Given the description of an element on the screen output the (x, y) to click on. 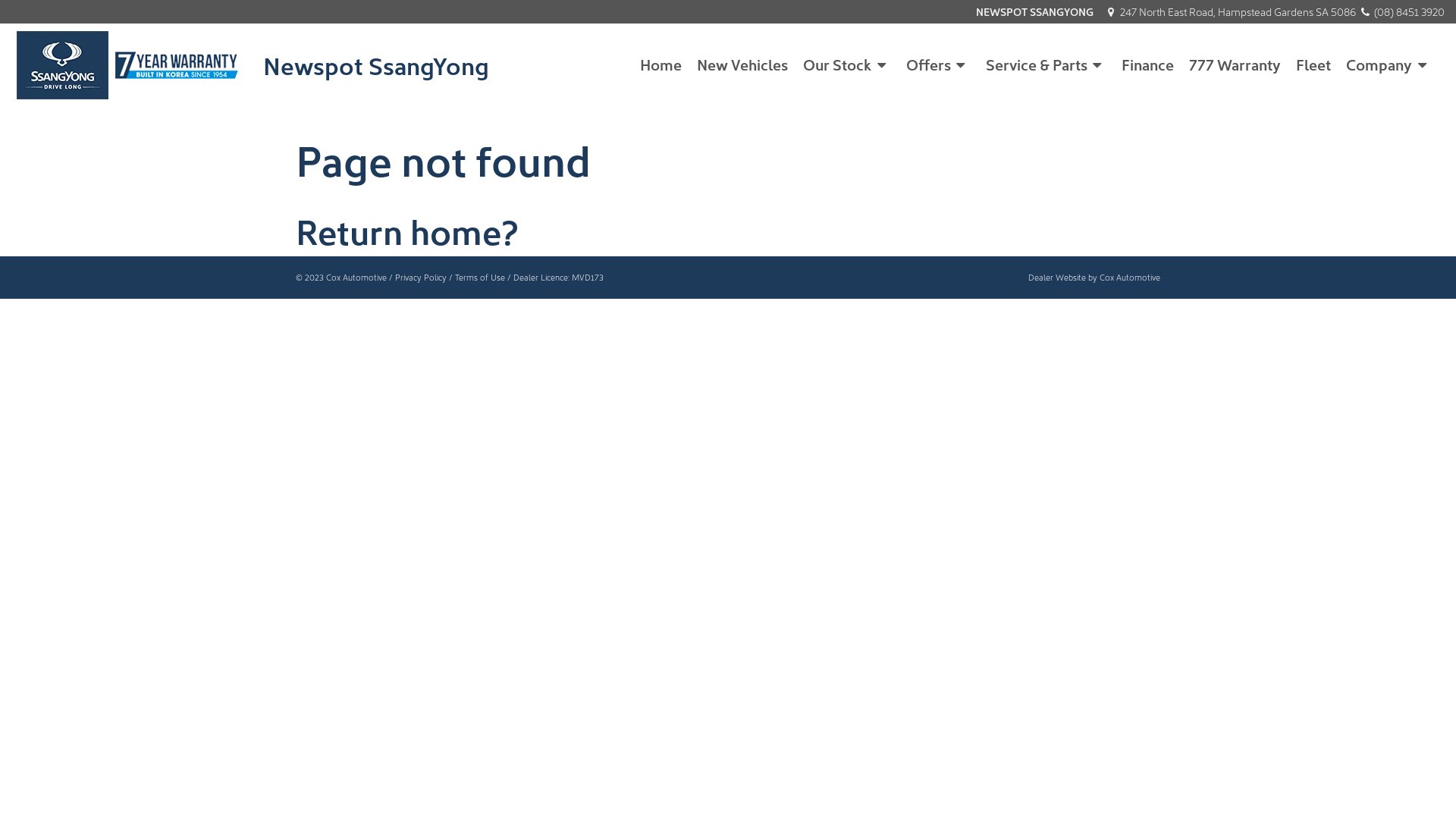
Company Element type: text (1388, 63)
Our Stock Element type: text (846, 63)
Offers Element type: text (938, 63)
NEWSPOT SSANGYONG Element type: text (1034, 10)
Dealer Website Element type: text (1056, 276)
(08) 8451 3920 Element type: text (1401, 10)
Finance Element type: text (1147, 62)
Service & Parts Element type: text (1046, 63)
Home Element type: text (660, 62)
Privacy Policy Element type: text (420, 276)
Terms of Use Element type: text (480, 276)
Fleet Element type: text (1313, 62)
Return home? Element type: text (406, 229)
New Vehicles Element type: text (742, 62)
247 North East Road, Hampstead Gardens SA 5086 Element type: text (1231, 10)
777 Warranty Element type: text (1234, 62)
